Given the description of an element on the screen output the (x, y) to click on. 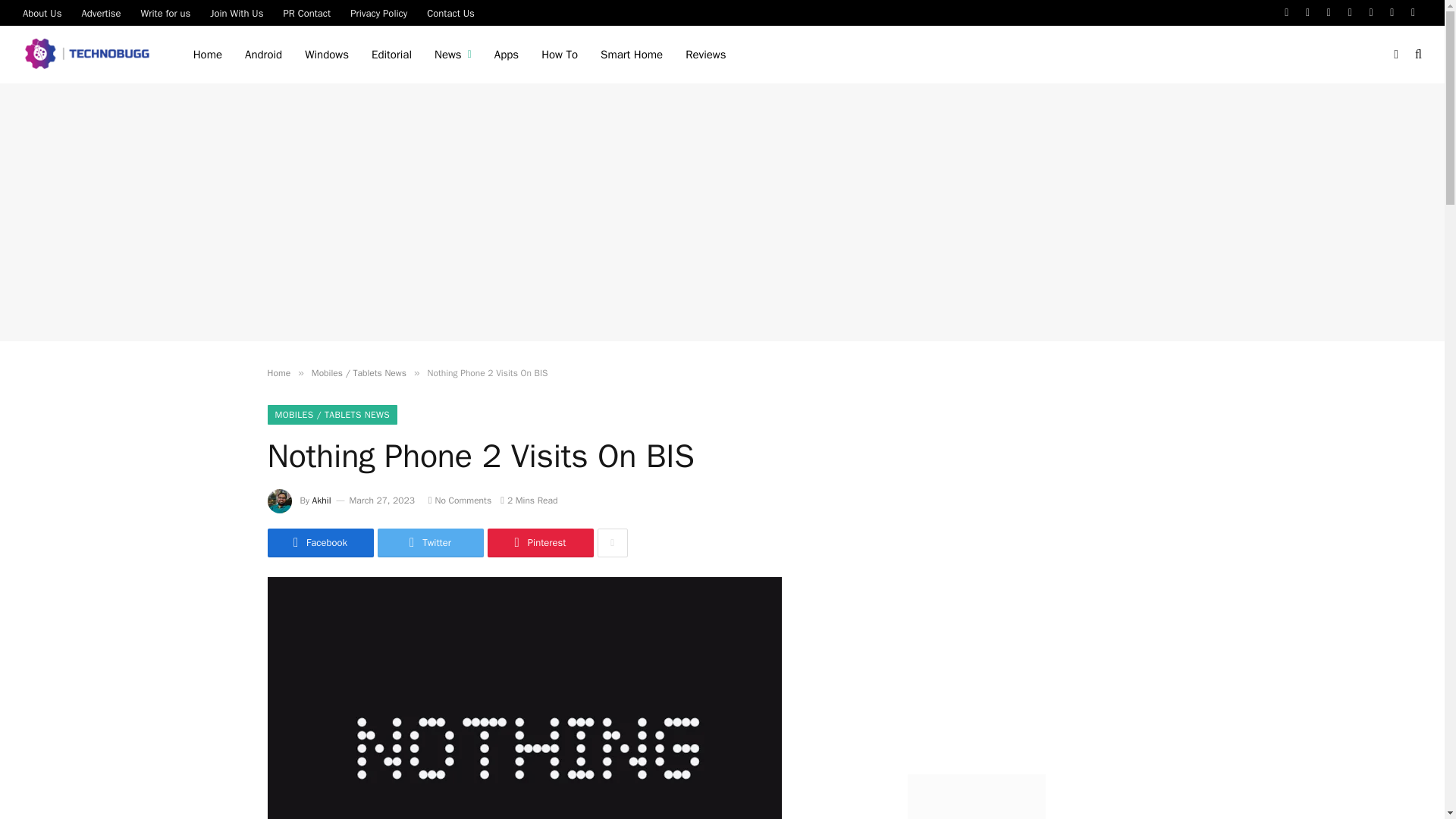
Write for us (165, 12)
Share on Facebook (319, 542)
PR Contact (306, 12)
Android (263, 54)
TechnoBugg (89, 54)
Windows (326, 54)
Share on Pinterest (539, 542)
Smart Home (631, 54)
How To (559, 54)
